Given the description of an element on the screen output the (x, y) to click on. 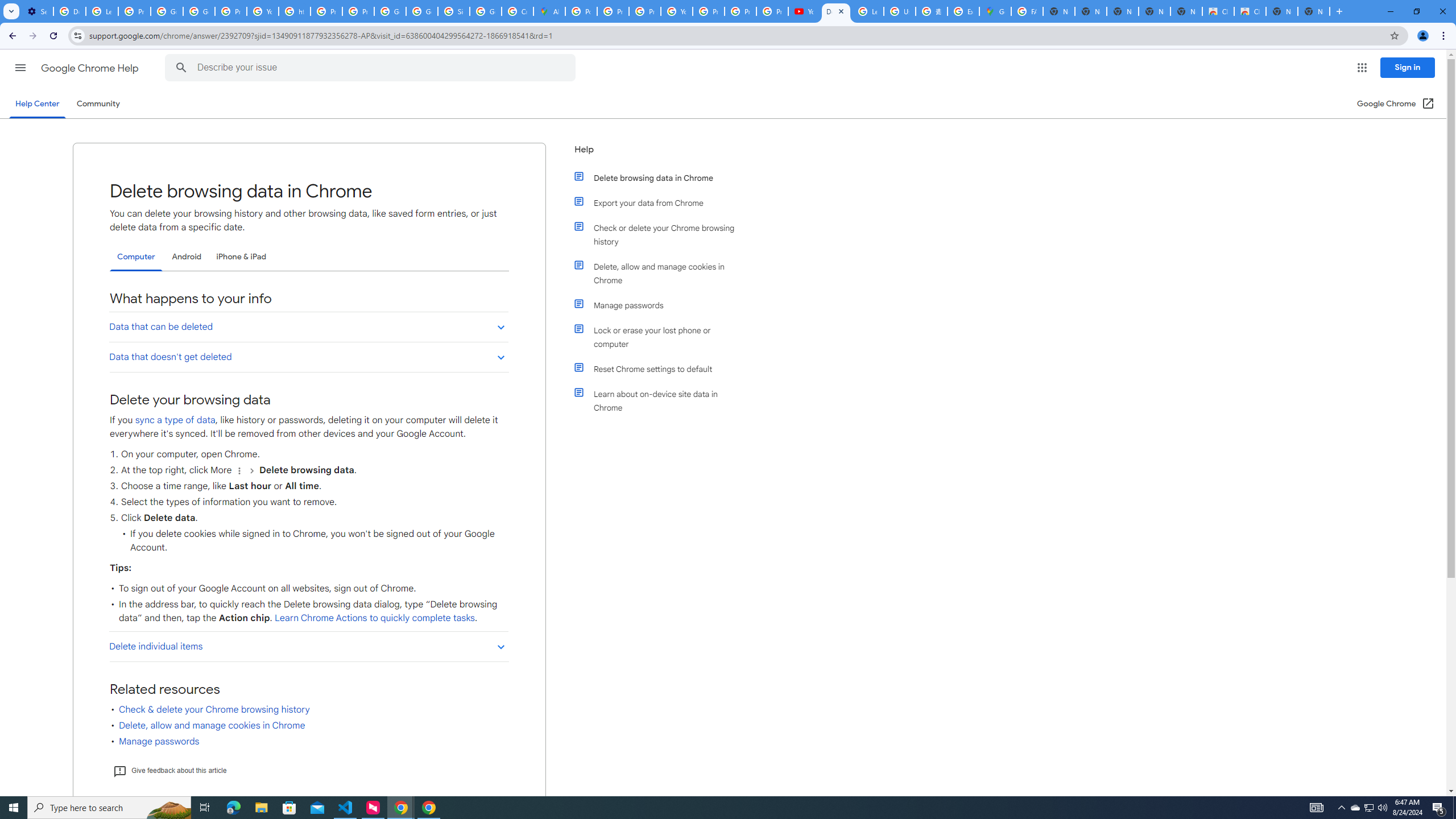
Manage passwords (661, 305)
Check or delete your Chrome browsing history (661, 234)
sync a type of data (175, 419)
Google Account Help (166, 11)
Policy Accountability and Transparency - Transparency Center (581, 11)
YouTube (676, 11)
Export your data from Chrome (661, 202)
Learn Chrome Actions to quickly complete tasks (373, 618)
Delete individual items (308, 646)
YouTube (804, 11)
